Given the description of an element on the screen output the (x, y) to click on. 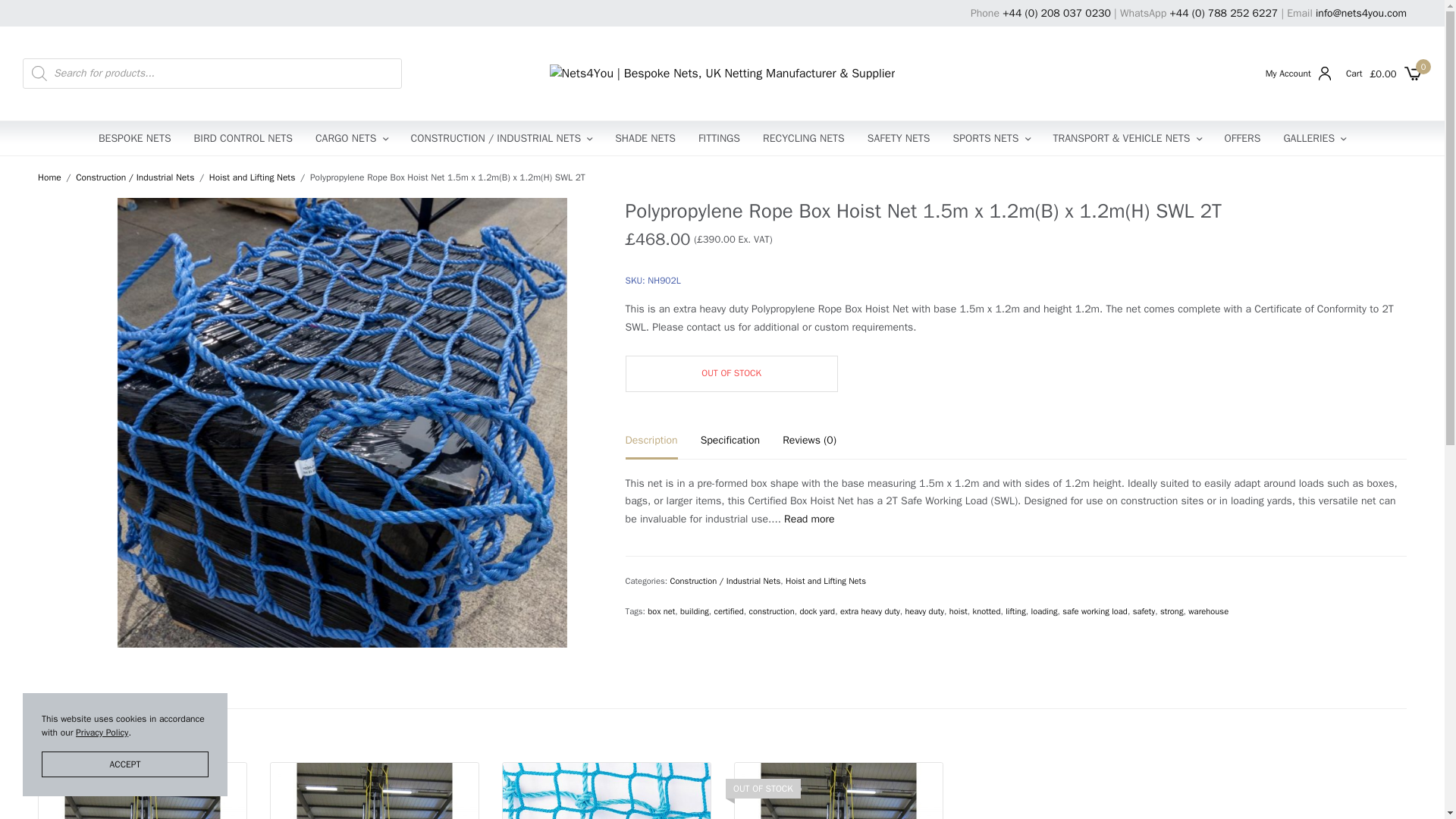
CARGO NETS (351, 138)
BIRD CONTROL NETS (242, 138)
RECYCLING NETS (803, 138)
SAFETY NETS (898, 138)
SPORTS NETS (991, 138)
My Account (1297, 72)
Extra Heavy Duty Certified Hoist Net 1T SWL 5m x 5m Yellow (374, 790)
Extra Heavy Duty Certified Hoist Net 250Kg SWL 1.5m x 1.5m (606, 790)
My Account (1297, 72)
BESPOKE NETS (135, 138)
